Given the description of an element on the screen output the (x, y) to click on. 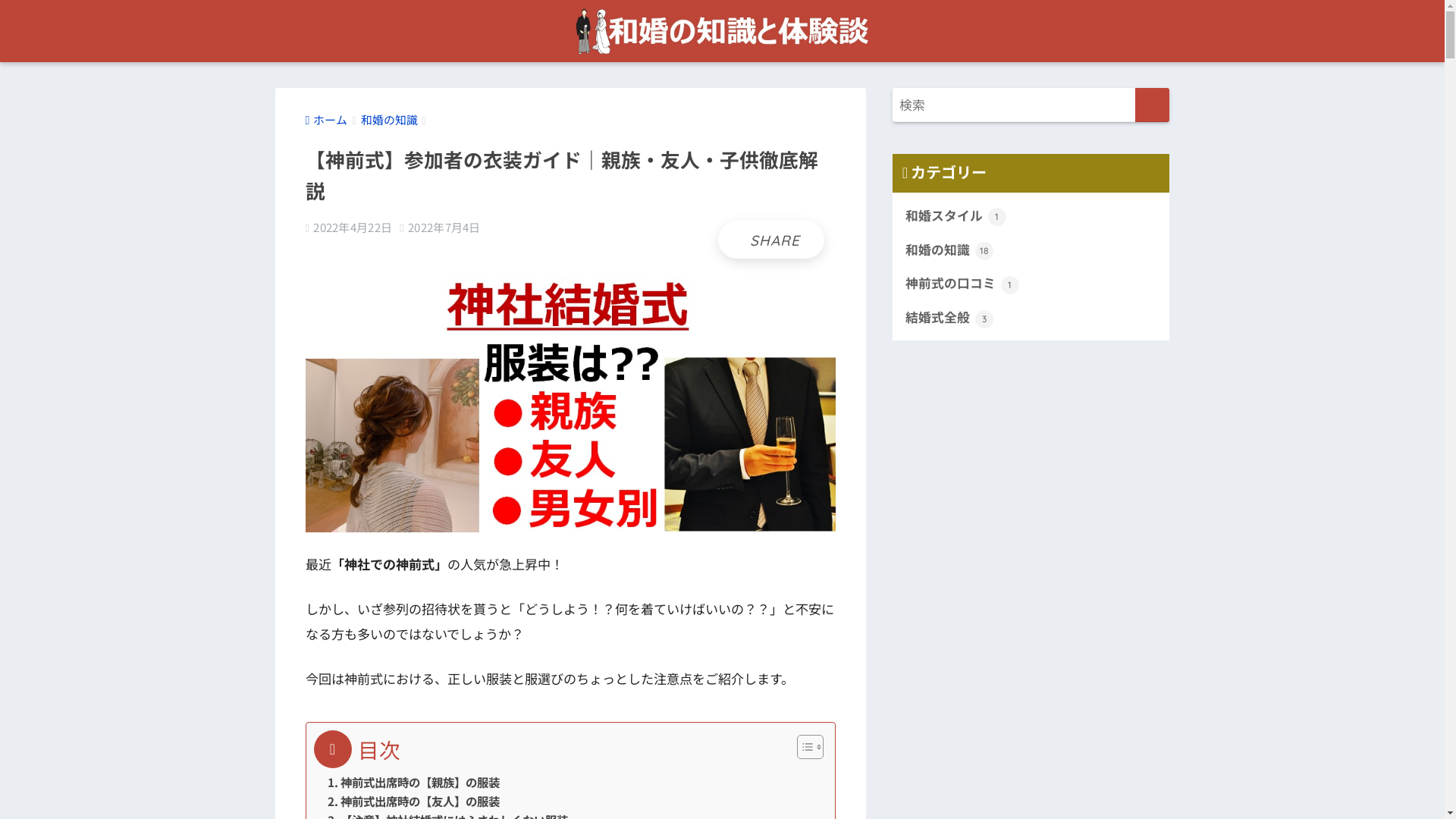
on Element type: text (4, 4)
